Given the description of an element on the screen output the (x, y) to click on. 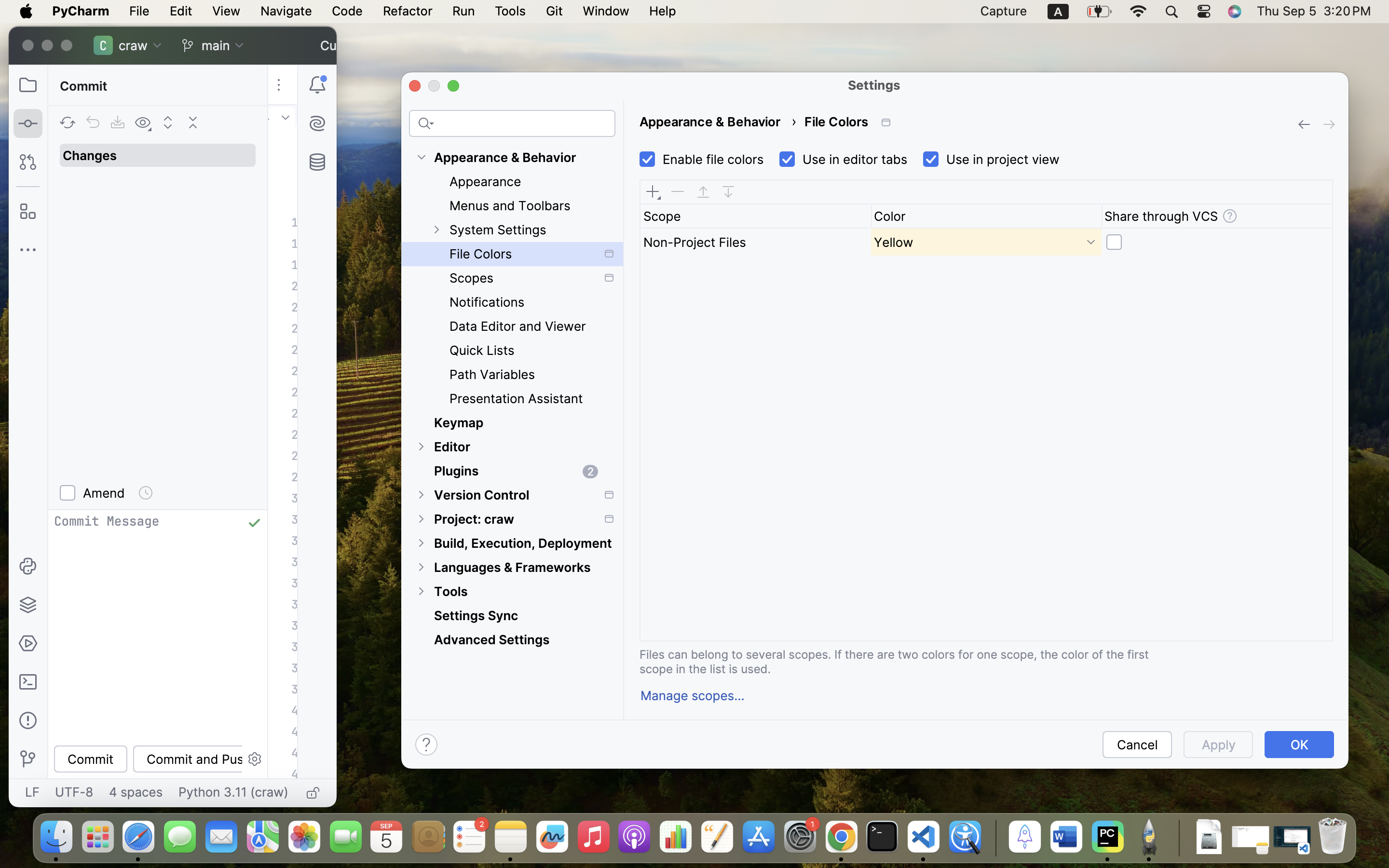
1 Element type: AXCheckBox (989, 159)
0 Element type: AXStaticText (986, 241)
Settings Element type: AXStaticText (873, 84)
0.4285714328289032 Element type: AXDockItem (993, 837)
Files can belong to several scopes. If there are two colors for one scope, the color of the first scope in the list is used. Element type: AXTextField (909, 661)
